Given the description of an element on the screen output the (x, y) to click on. 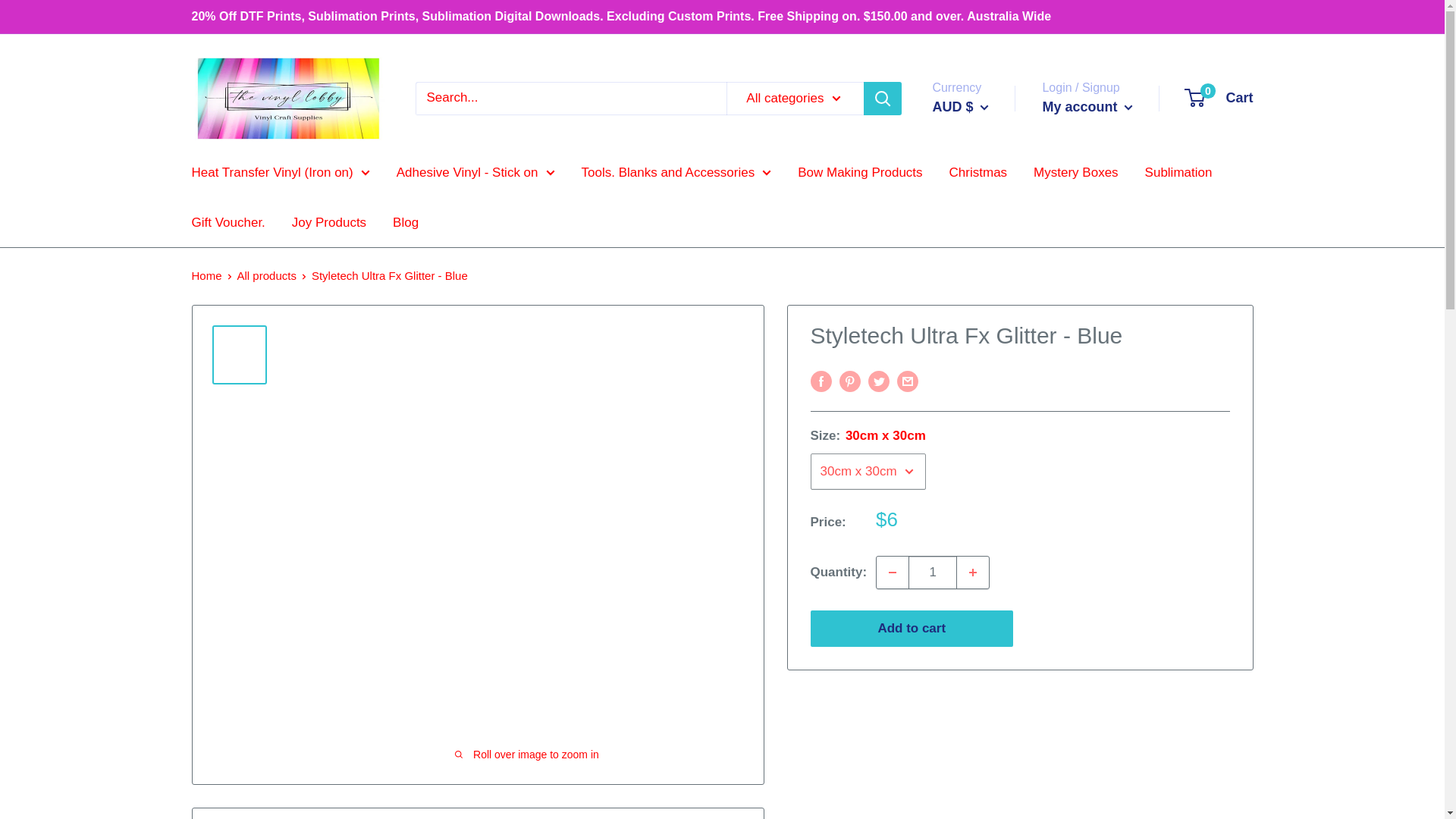
1 (932, 572)
Increase quantity by 1 (972, 572)
Decrease quantity by 1 (892, 572)
